Given the description of an element on the screen output the (x, y) to click on. 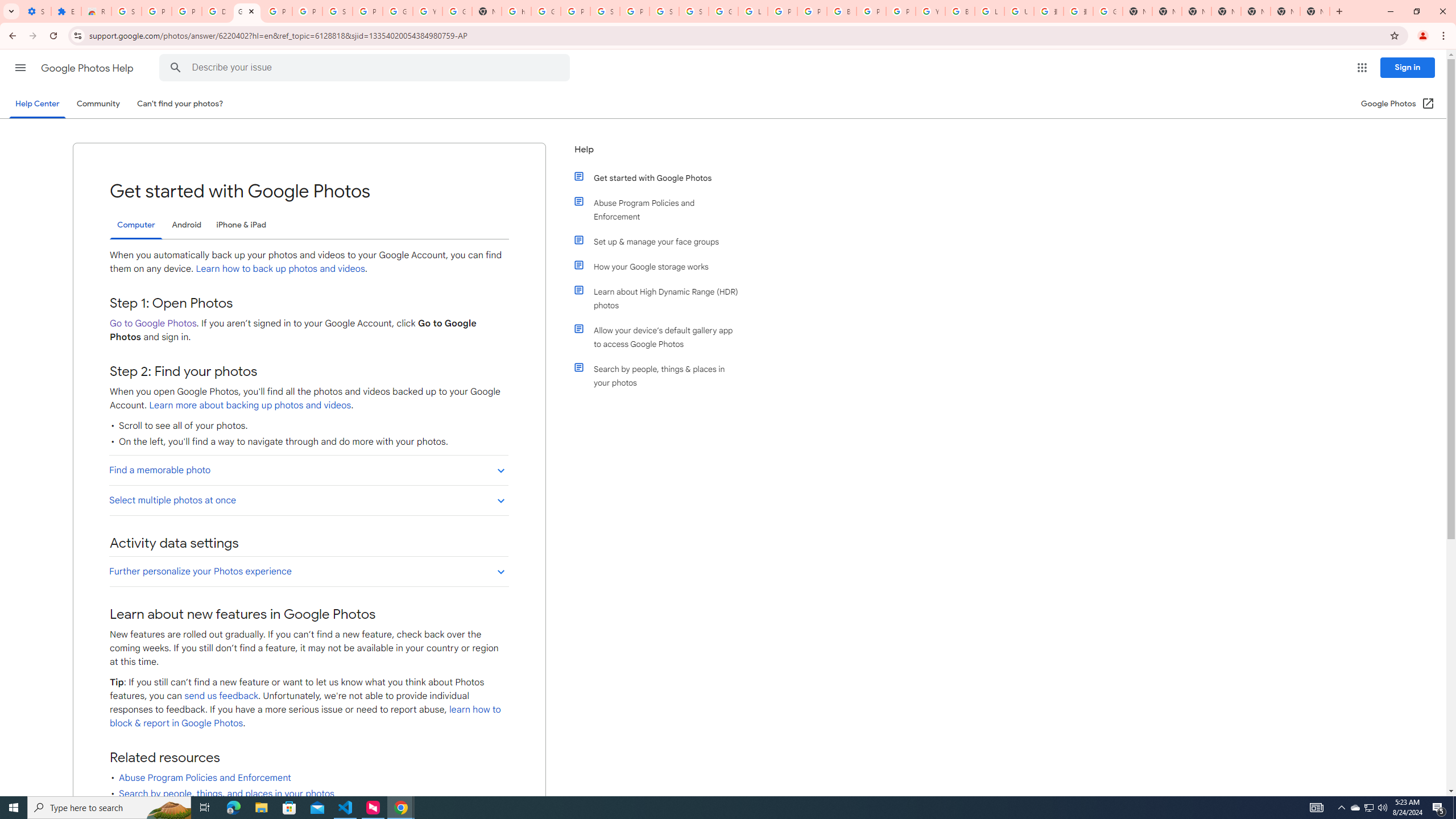
Learn how to back up photos and videos (280, 268)
Get started with Google Photos (661, 177)
Google Photos Help (87, 68)
New Tab (1314, 11)
Community (97, 103)
https://scholar.google.com/ (515, 11)
Further personalize your Photos experience (308, 571)
Google Photos (Open in a new window) (1397, 103)
Select multiple photos at once (308, 499)
